Given the description of an element on the screen output the (x, y) to click on. 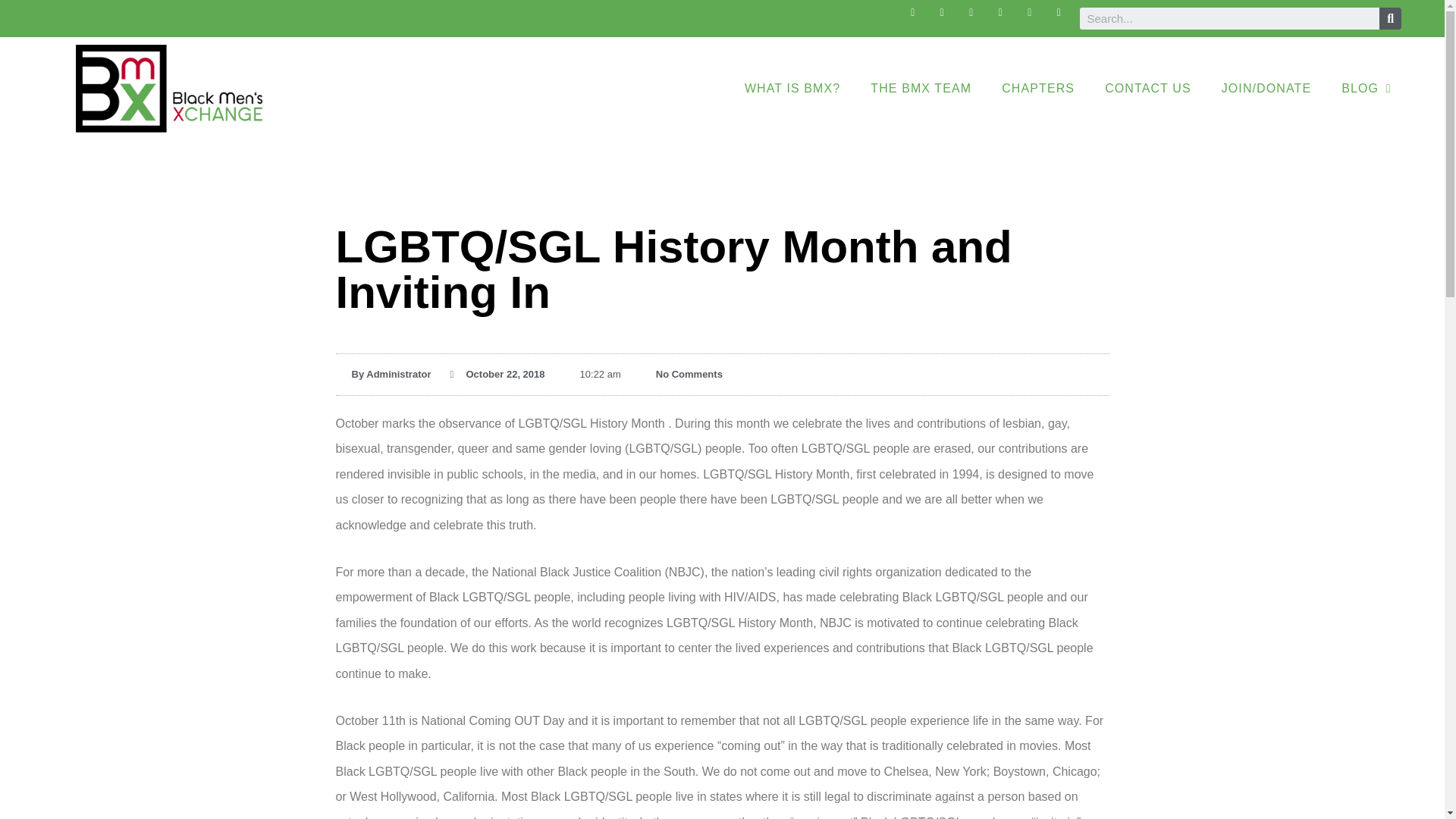
THE BMX TEAM (921, 88)
Search (1229, 18)
CHAPTERS (1038, 88)
October 22, 2018 (496, 374)
CONTACT US (1148, 88)
Search (1389, 18)
By Administrator (382, 374)
WHAT IS BMX? (792, 88)
No Comments (681, 374)
BLOG (1366, 88)
